Given the description of an element on the screen output the (x, y) to click on. 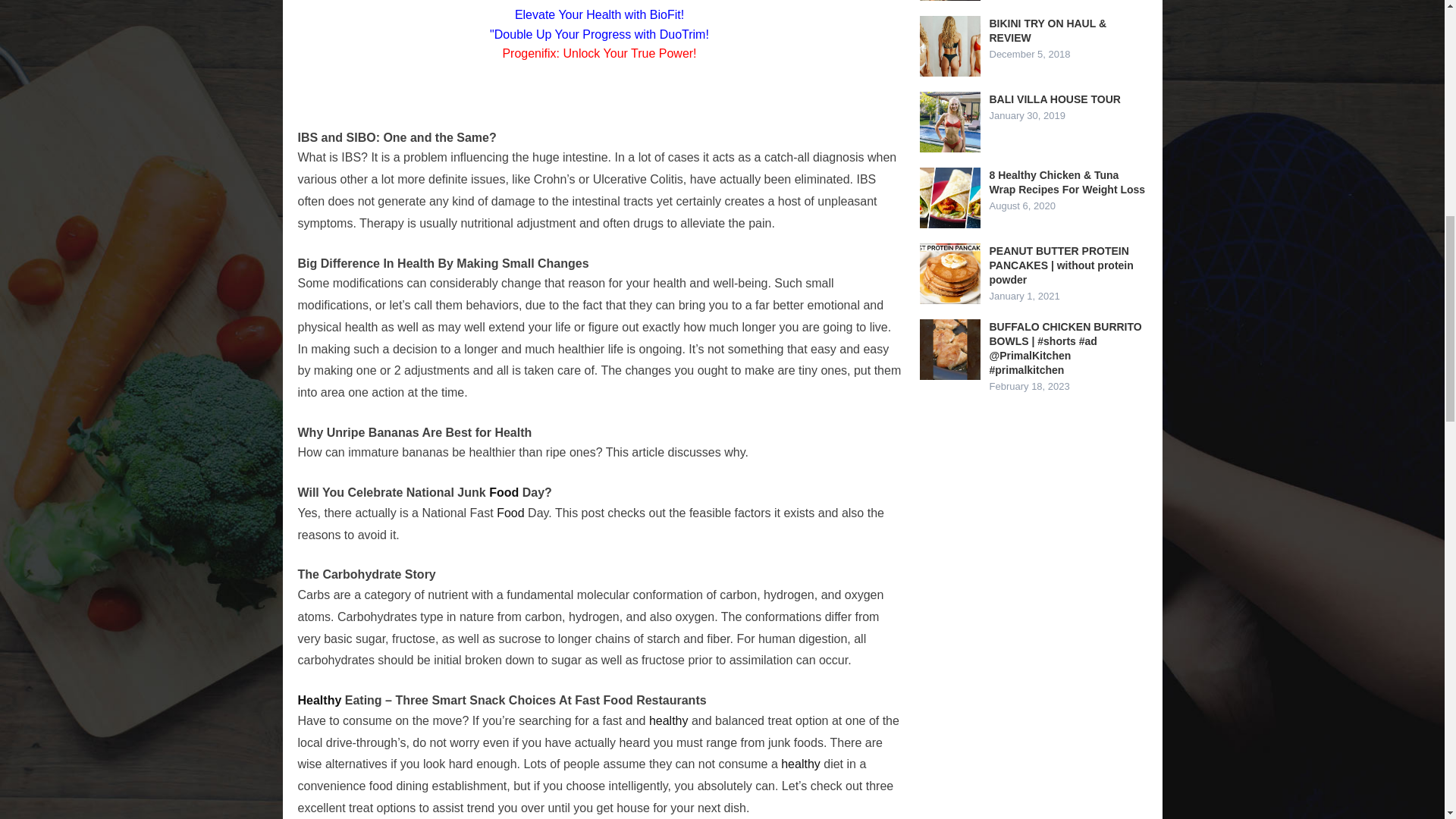
Food (503, 492)
healthy (668, 720)
Posts tagged with healthy (318, 699)
healthy (800, 763)
Progenifix: Unlock Your True Power! (598, 52)
Posts tagged with healthy (668, 720)
Food (510, 512)
Posts tagged with healthy (800, 763)
Posts tagged with food (503, 492)
"Double Up Your Progress with DuoTrim! (599, 33)
